Given the description of an element on the screen output the (x, y) to click on. 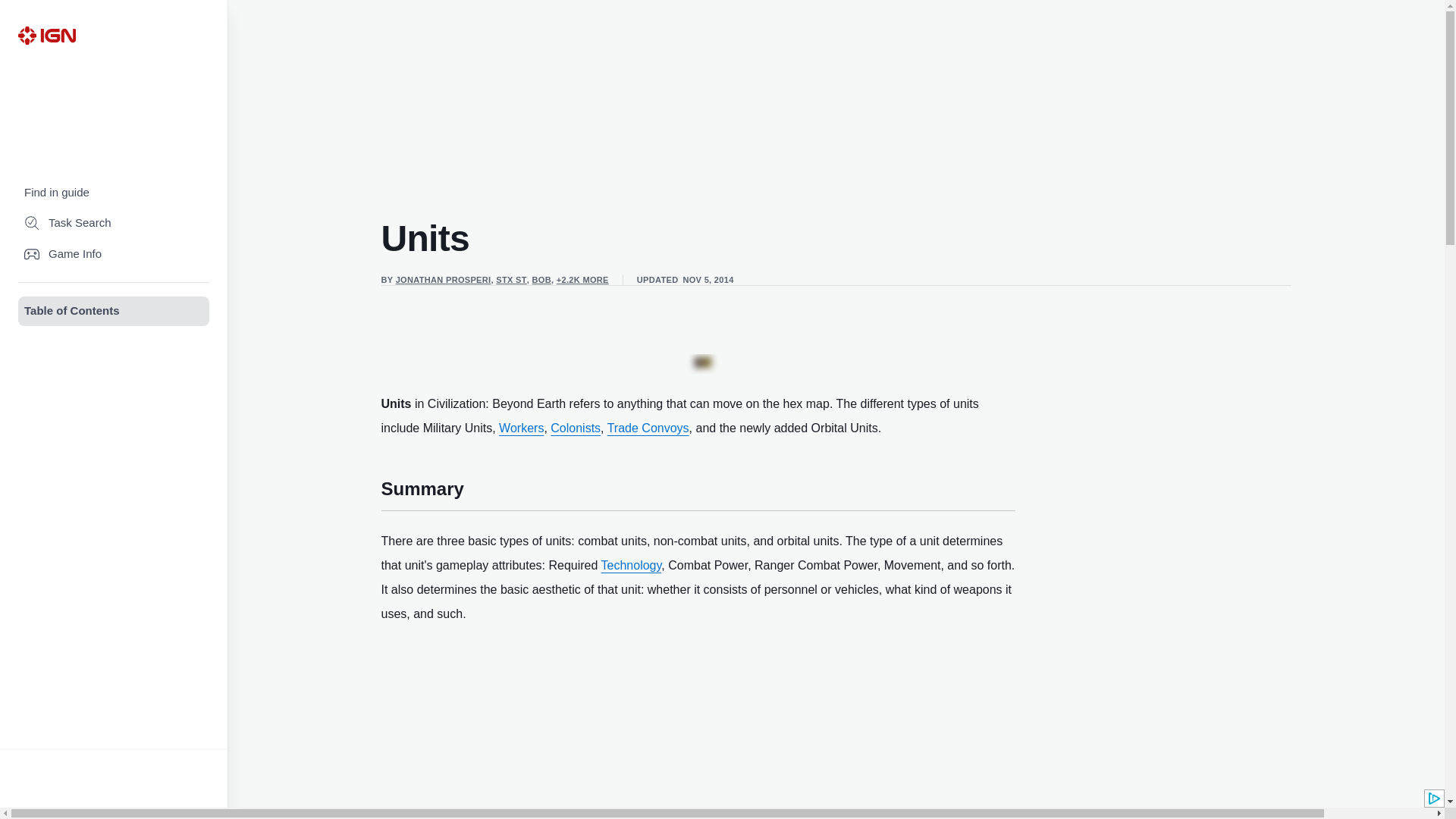
Find in guide (113, 193)
Table of Contents (113, 310)
Find in guide (113, 193)
Game Info (113, 254)
IGN Logo (46, 35)
Game Info (113, 254)
Task Search (113, 223)
IGN (46, 35)
IGN Logo (46, 34)
Table of Contents (113, 310)
